Given the description of an element on the screen output the (x, y) to click on. 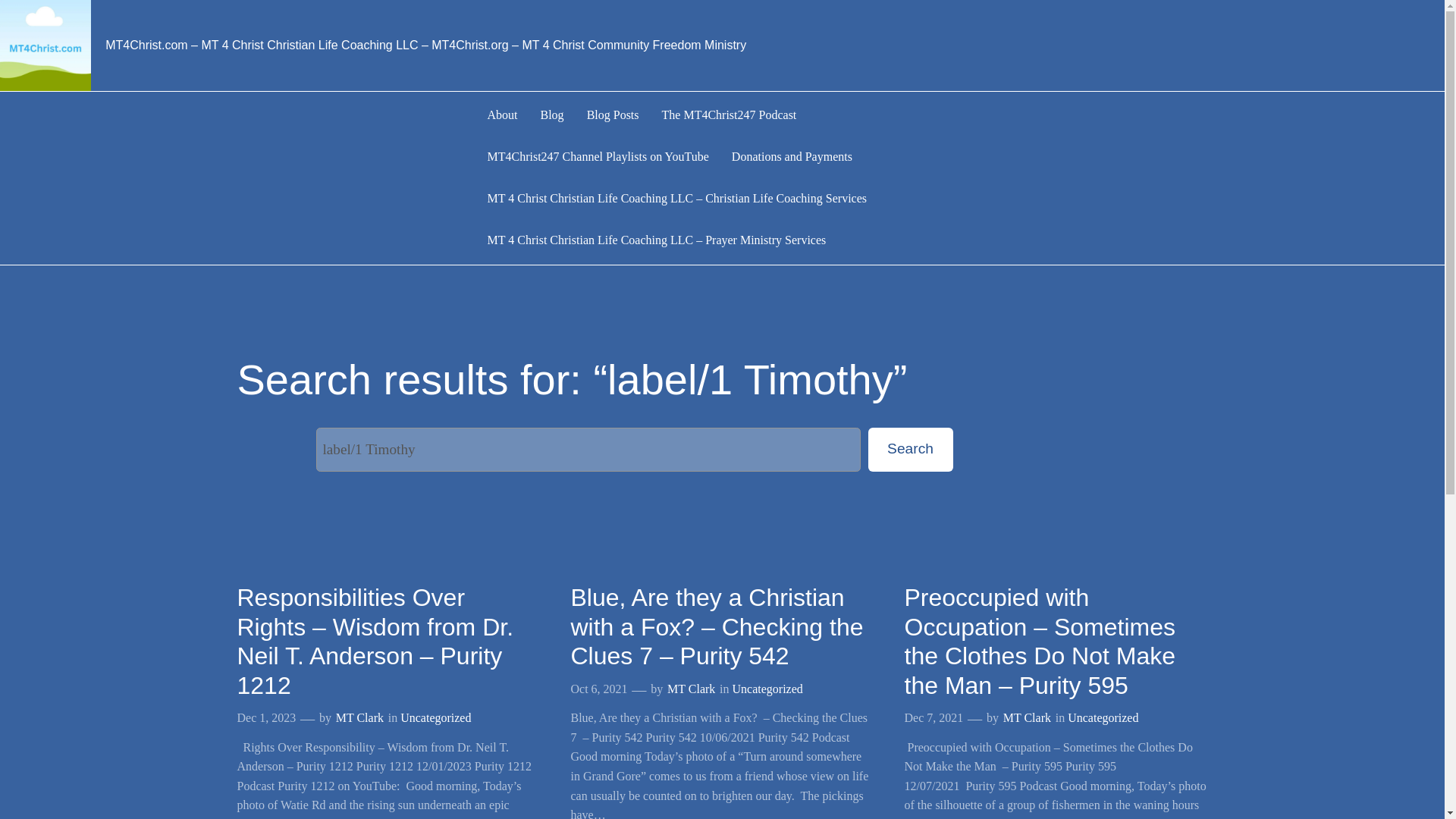
MT Clark (1027, 717)
Oct 6, 2021 (598, 688)
Blog (551, 115)
Search (910, 449)
Uncategorized (767, 688)
The MT4Christ247 Podcast (729, 115)
Dec 7, 2021 (933, 717)
MT Clark (690, 688)
MT Clark (360, 717)
Donations and Payments (791, 157)
Uncategorized (1102, 717)
Blog Posts (612, 115)
About (501, 115)
MT4Christ247 Channel Playlists on YouTube (596, 157)
Uncategorized (435, 717)
